Given the description of an element on the screen output the (x, y) to click on. 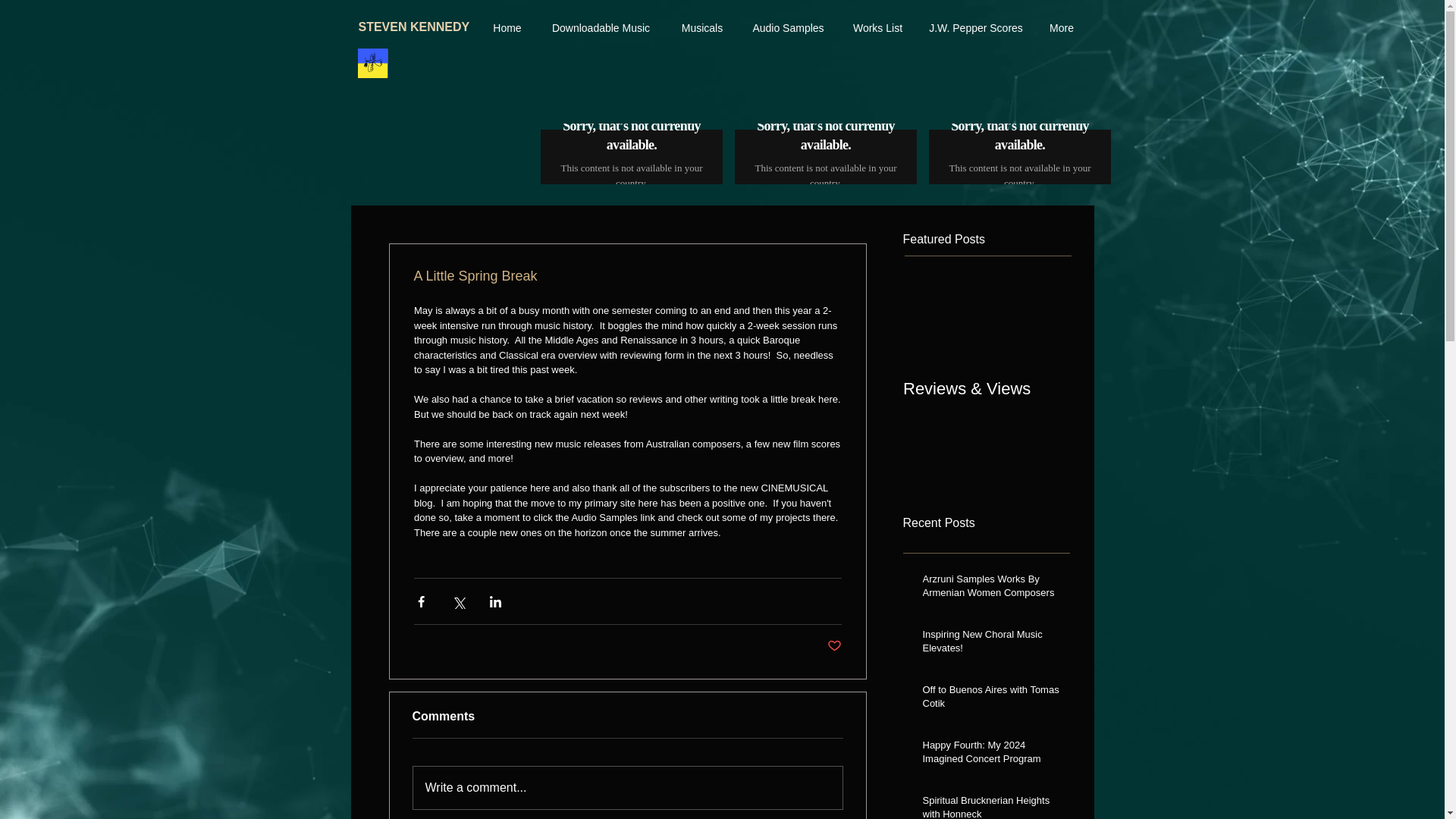
Happy Fourth: My 2024 Imagined Concert Program (990, 755)
Musicals (702, 28)
Post not marked as liked (834, 646)
J.W. Pepper Scores (975, 28)
Arzruni Samples Works By Armenian Women Composers (990, 589)
Off to Buenos Aires with Tomas Cotik (990, 699)
Downloadable Music (600, 28)
Audio Samples (787, 28)
Spotify Player (631, 153)
Spotify Player (631, 154)
Spotify Player (824, 153)
Home (506, 28)
Inspiring New Choral Music Elevates! (990, 644)
Spotify Player (824, 154)
Spotify Player (1018, 153)
